Given the description of an element on the screen output the (x, y) to click on. 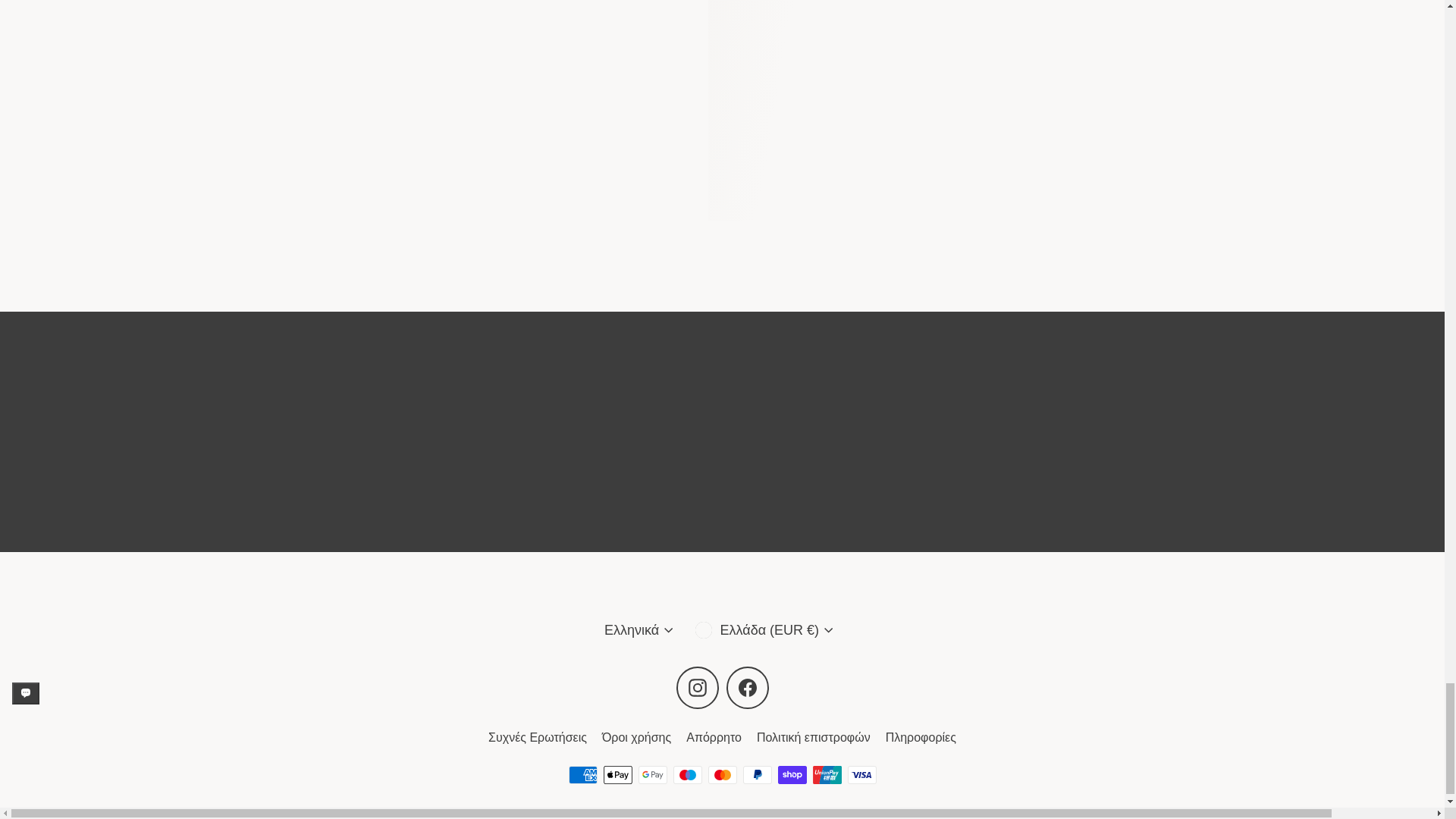
Apple Pay (617, 774)
Visa (861, 774)
Google Pay (652, 774)
Mastercard (721, 774)
JohnVar Presets on Instagram (698, 687)
JohnVar Presets on Facebook (747, 687)
Union Pay (826, 774)
Maestro (686, 774)
instagram (697, 687)
American Express (582, 774)
Shop Pay (791, 774)
PayPal (756, 774)
